Given the description of an element on the screen output the (x, y) to click on. 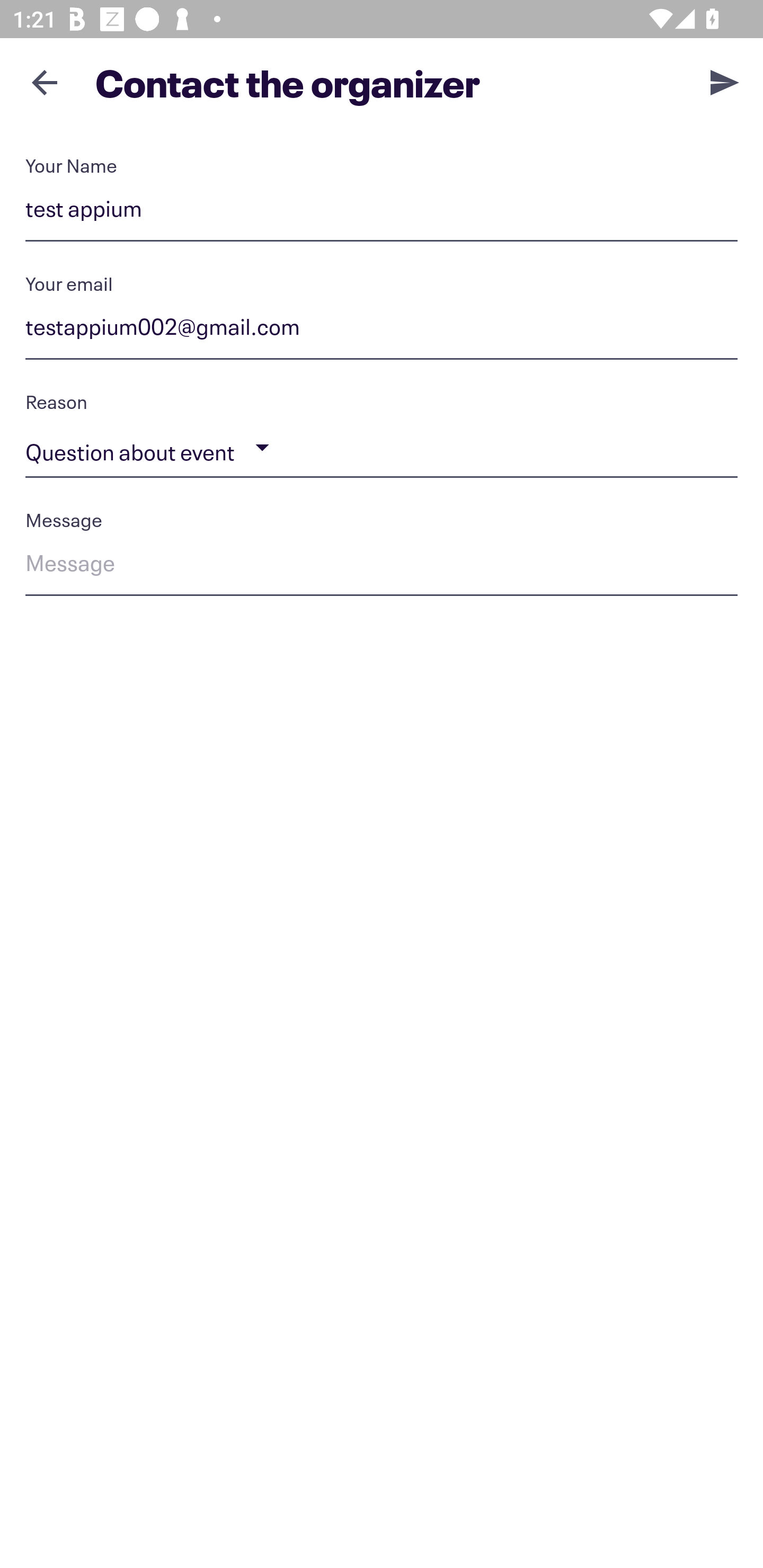
Navigate up (44, 82)
Send (724, 81)
test appium (381, 211)
testappium002@gmail.com (381, 329)
Question about event    (381, 447)
Message (381, 565)
